Given the description of an element on the screen output the (x, y) to click on. 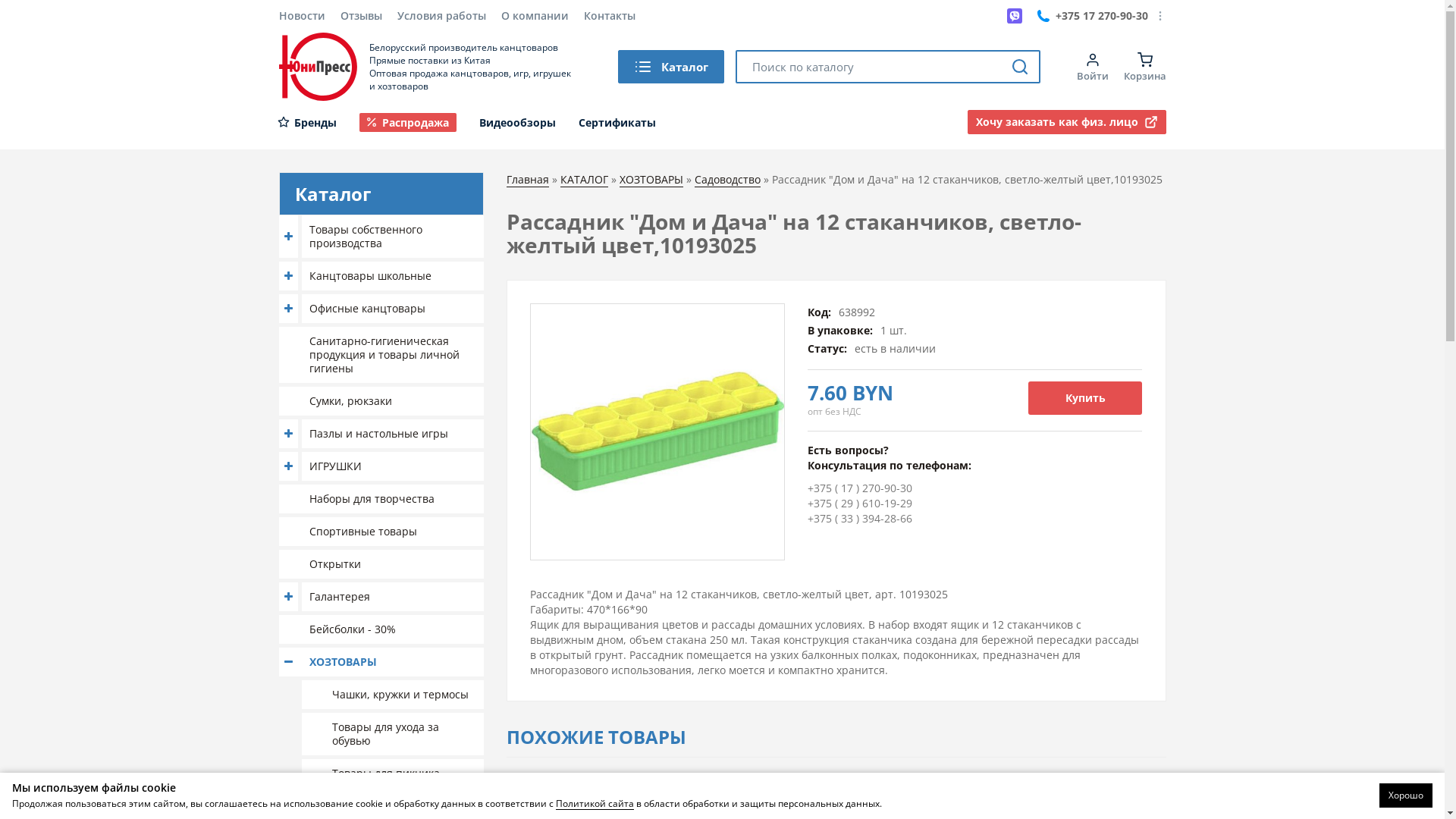
+375 ( 17 ) 270-90-30 Element type: text (859, 487)
+375 17 270-90-30 Element type: text (1092, 15)
+375 ( 33 ) 394-28-66 Element type: text (859, 518)
+375 ( 29 ) 610-19-29 Element type: text (859, 502)
